Given the description of an element on the screen output the (x, y) to click on. 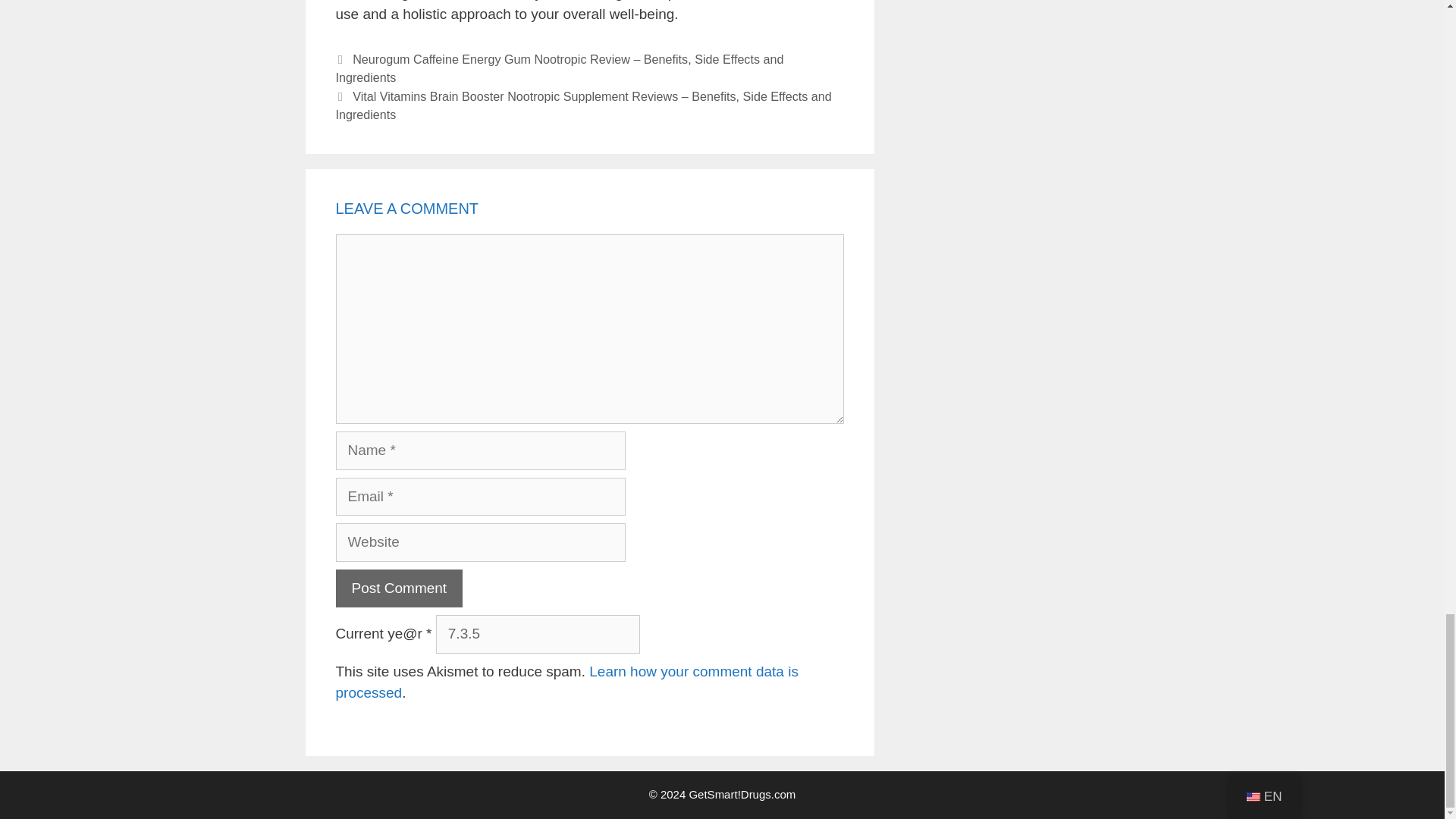
7.3.5 (537, 634)
Learn how your comment data is processed (565, 682)
Post Comment (398, 588)
Post Comment (398, 588)
